Given the description of an element on the screen output the (x, y) to click on. 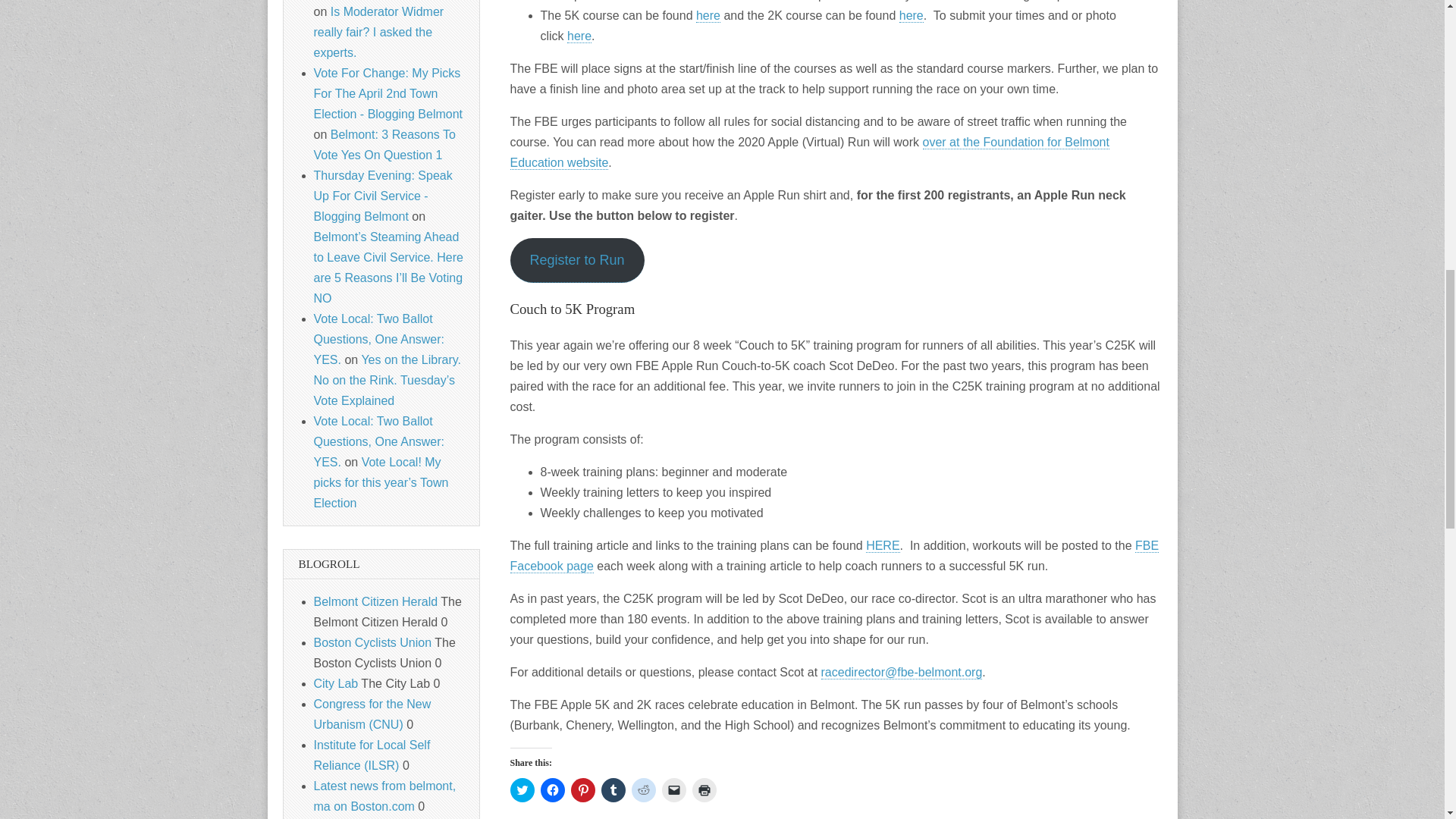
Click to share on Facebook (552, 790)
Click to share on Reddit (642, 790)
The Belmont Citizen Herald (376, 601)
Click to share on Twitter (521, 790)
Click to email a link to a friend (673, 790)
HERE (882, 545)
The City Lab (336, 683)
over at the Foundation for Belmont Education website (808, 152)
Click to print (703, 790)
Click to share on Pinterest (582, 790)
